Given the description of an element on the screen output the (x, y) to click on. 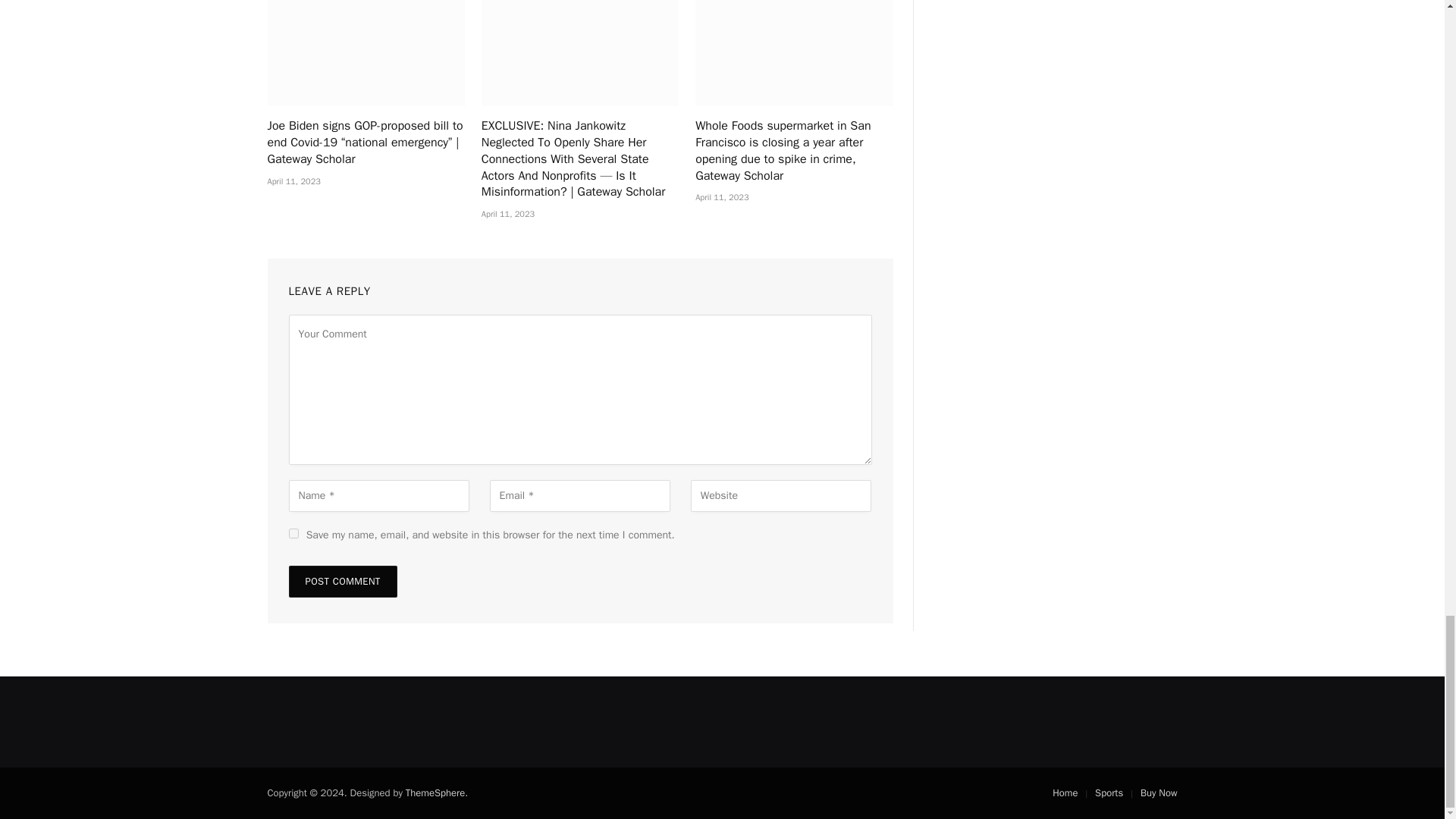
Post Comment (342, 581)
yes (293, 533)
